Given the description of an element on the screen output the (x, y) to click on. 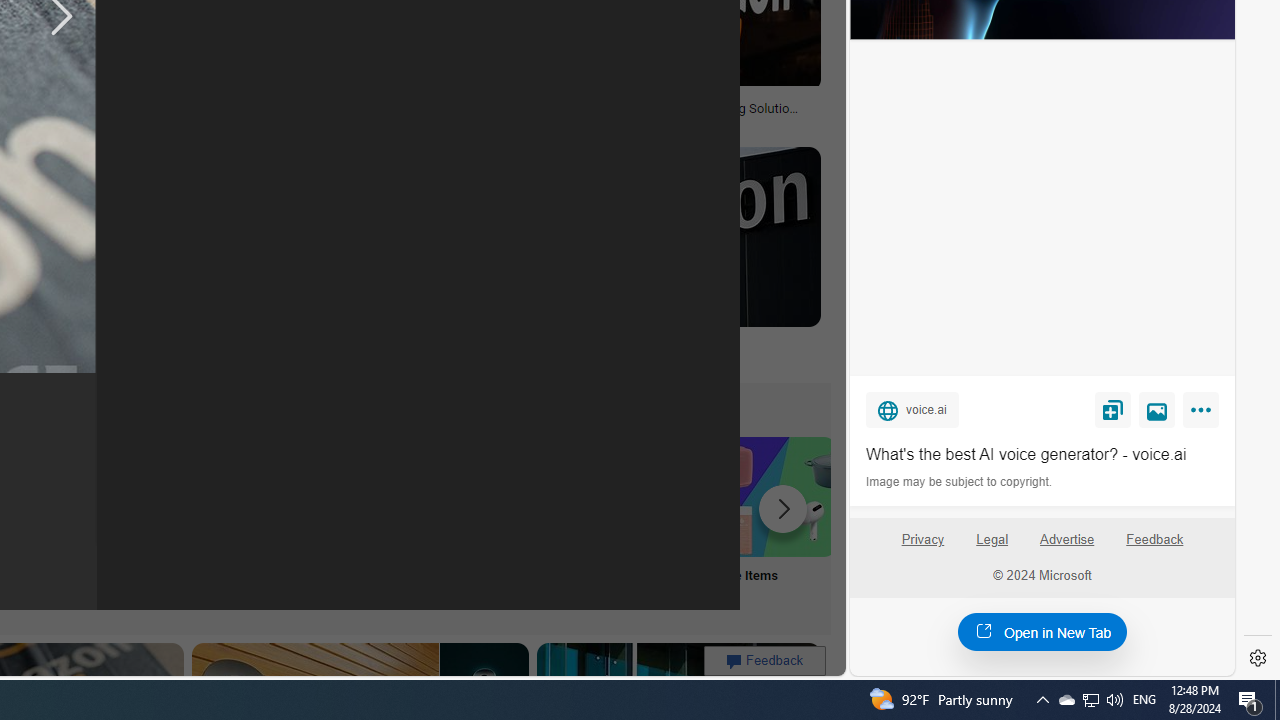
Amazon Prime Label (511, 496)
View image (1157, 409)
vecteezy.com (317, 121)
vecteezy.com (371, 123)
Amazon Visa Card Login Visa Card Login (643, 521)
Amazon Mini TV Mini TV (116, 521)
mobilemarketingmagazine.com (651, 123)
Amazon Sale Items Sale Items (775, 521)
Image result for amazon (662, 236)
Prime Label (511, 521)
Amazon Mini TV (116, 496)
Settings (1258, 658)
3d illustration of amazon logo 18779928 PNG (371, 114)
